Given the description of an element on the screen output the (x, y) to click on. 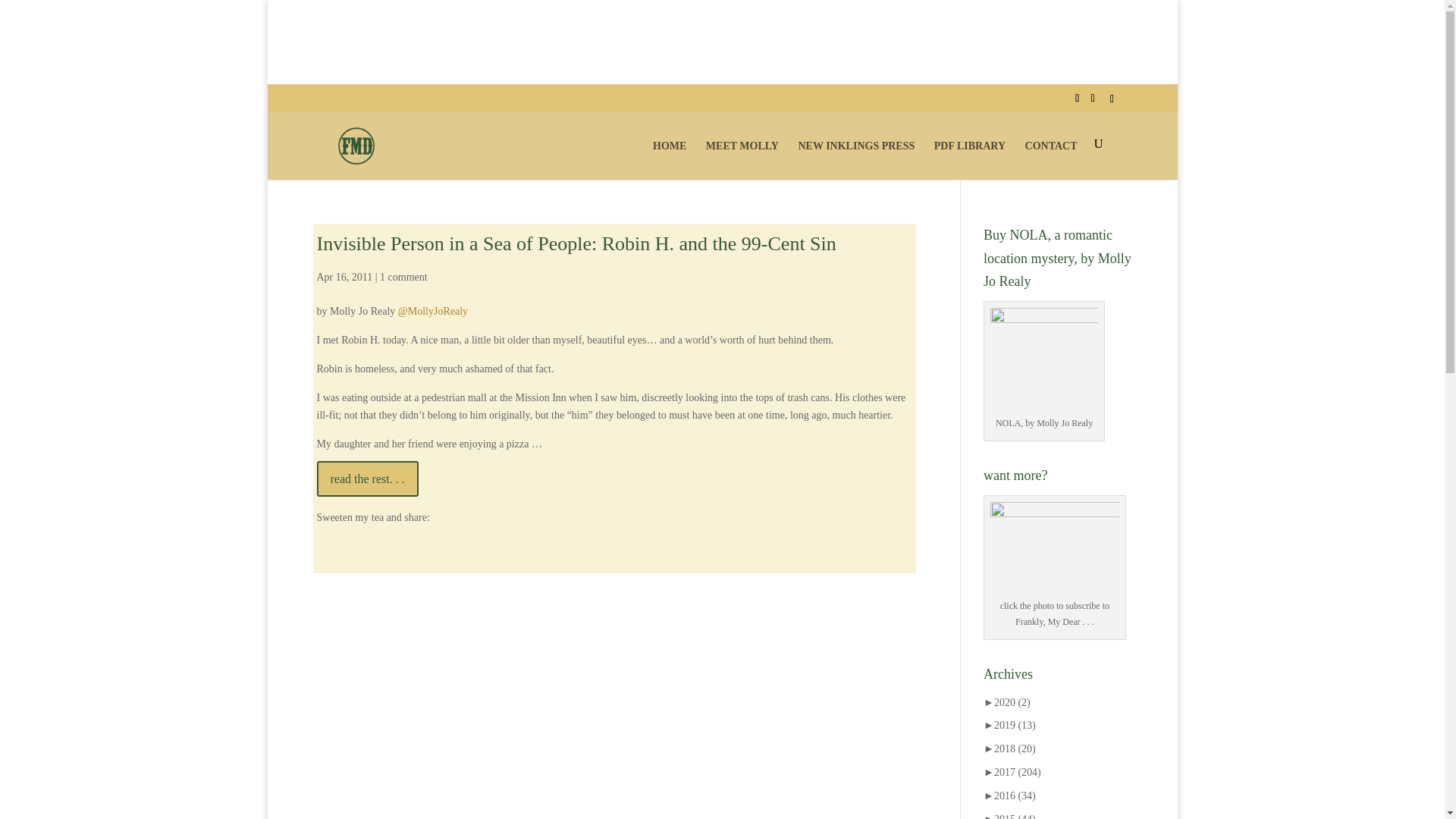
PDF LIBRARY (970, 157)
NEW INKLINGS PRESS (855, 157)
read the rest. . . (368, 478)
1 comment (404, 276)
click to expand (1007, 702)
CONTACT (1051, 157)
click to expand (1009, 725)
MEET MOLLY (742, 157)
